Given the description of an element on the screen output the (x, y) to click on. 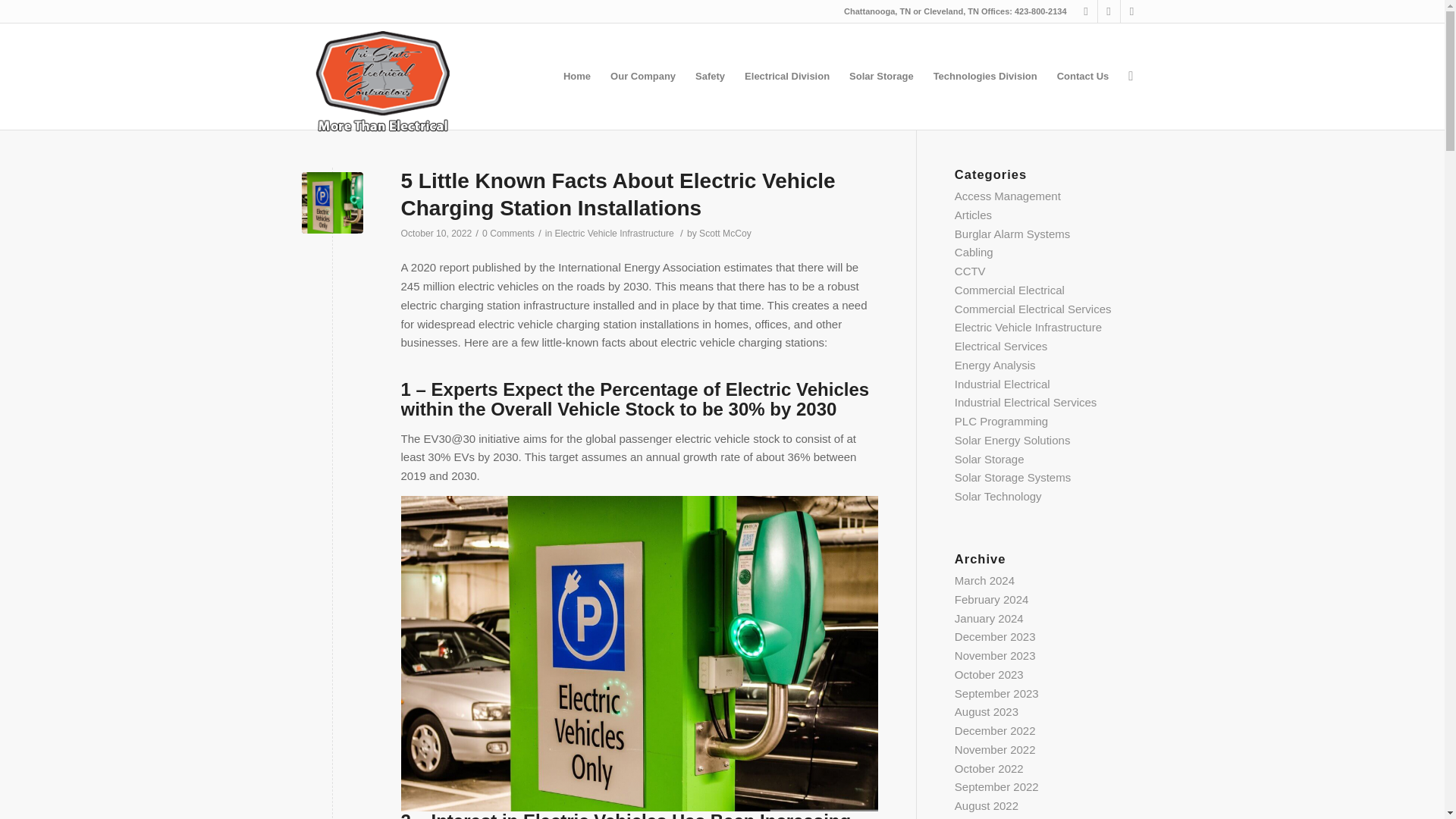
Electrical Division (787, 76)
0 Comments (507, 233)
Posts by Scott McCoy (724, 233)
Electric Vehicle Infrastructure (614, 233)
Facebook (1086, 11)
Twitter (1131, 11)
Scott McCoy (724, 233)
Technologies Division (984, 76)
Instagram (1108, 11)
